Given the description of an element on the screen output the (x, y) to click on. 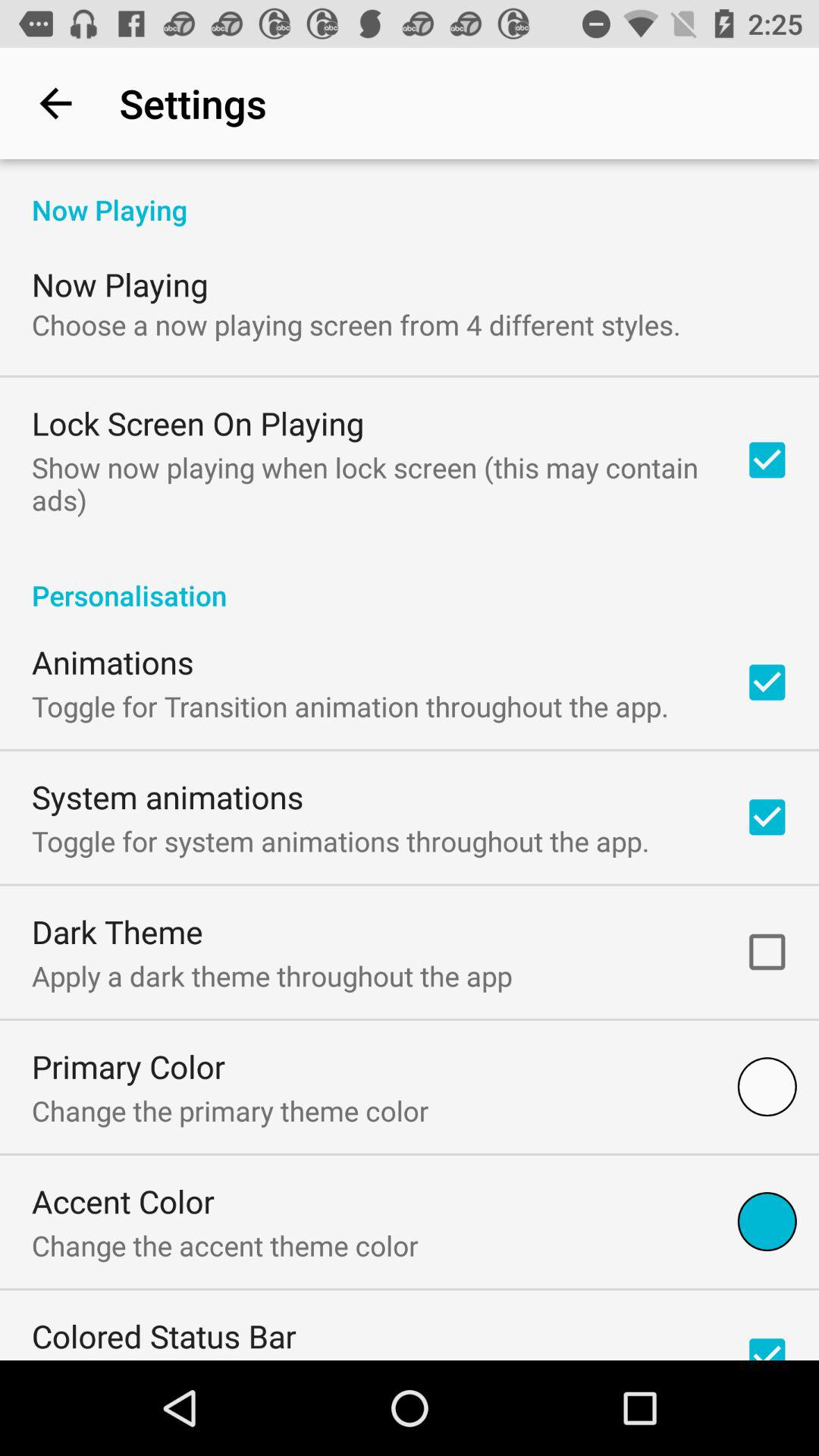
swipe until colored status bar item (163, 1335)
